Given the description of an element on the screen output the (x, y) to click on. 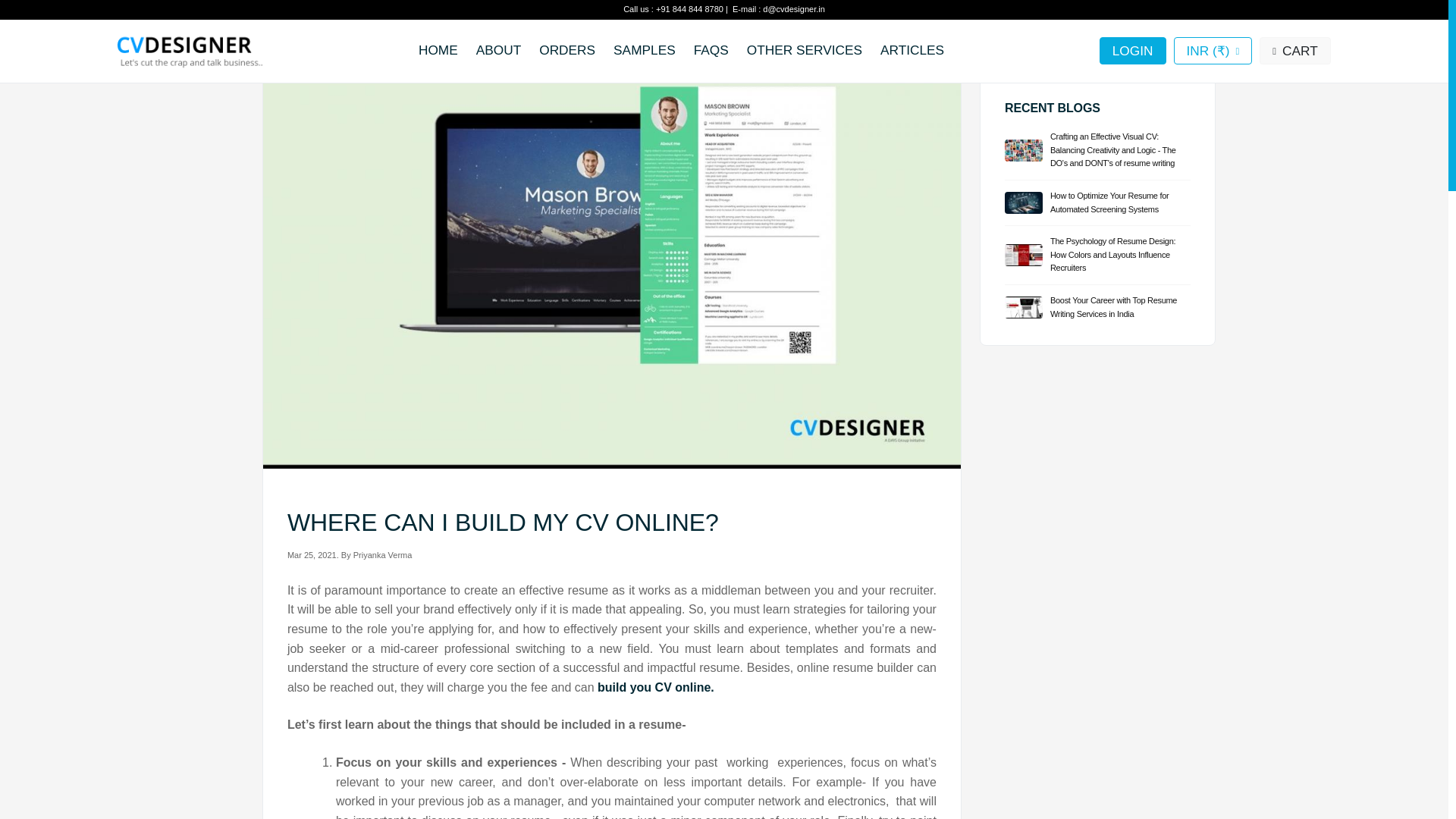
CART (1294, 50)
Boost Your Career with Top Resume Writing Services in India (1097, 303)
ABOUT (498, 50)
ARTICLES (911, 50)
build you CV online. (655, 686)
OTHER SERVICES (804, 50)
Online CV Writing (655, 686)
FAQS (711, 50)
ORDERS (566, 50)
How to Optimize Your Resume for Automated Screening Systems (1097, 203)
HOME (438, 50)
LOGIN (1132, 50)
SAMPLES (644, 50)
